Given the description of an element on the screen output the (x, y) to click on. 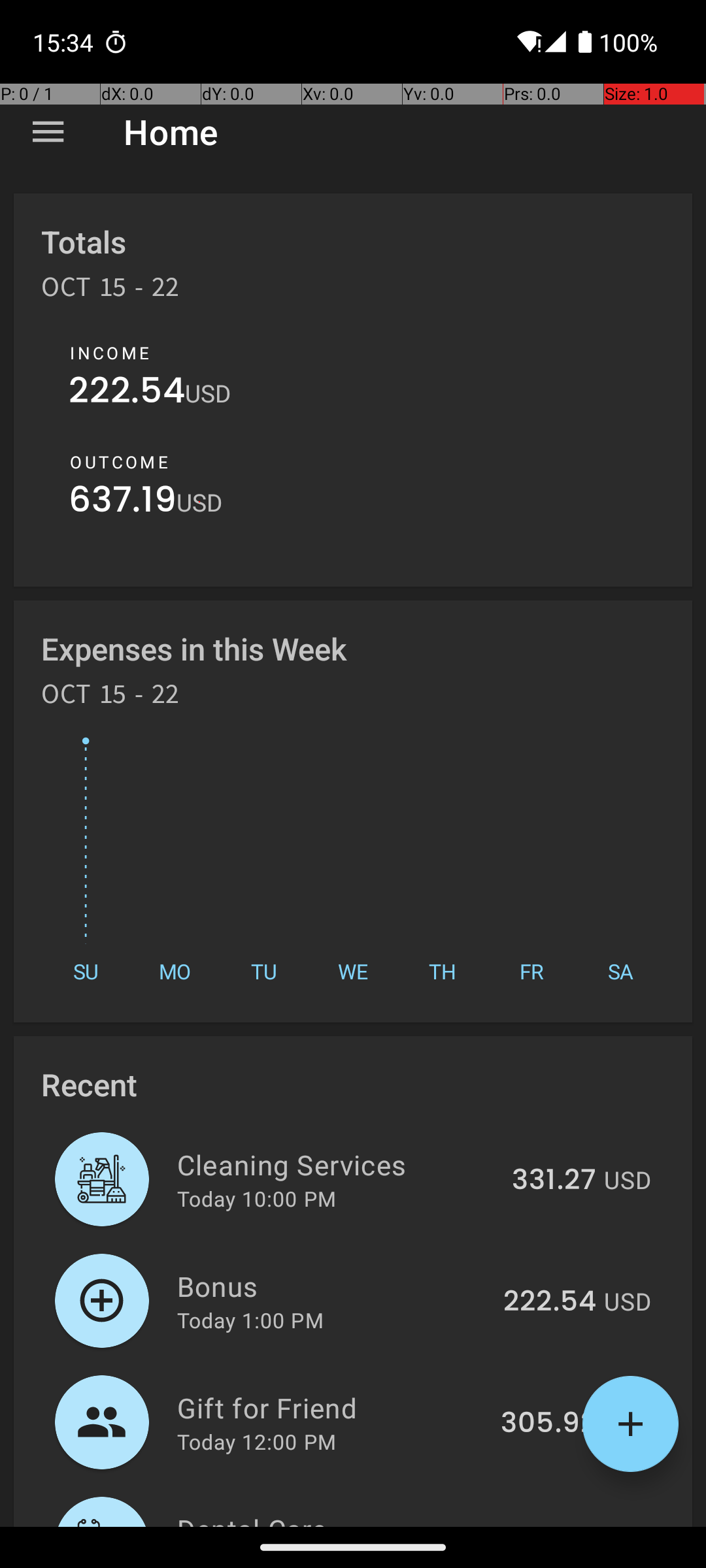
222.54 Element type: android.widget.TextView (126, 393)
637.19 Element type: android.widget.TextView (122, 502)
Cleaning Services Element type: android.widget.TextView (336, 1164)
331.27 Element type: android.widget.TextView (553, 1180)
Bonus Element type: android.widget.TextView (332, 1285)
Today 1:00 PM Element type: android.widget.TextView (250, 1320)
Gift for Friend Element type: android.widget.TextView (331, 1407)
Today 12:00 PM Element type: android.widget.TextView (256, 1441)
305.92 Element type: android.widget.TextView (548, 1423)
Dental Care Element type: android.widget.TextView (339, 1518)
107.31 Element type: android.widget.TextView (555, 1524)
